Given the description of an element on the screen output the (x, y) to click on. 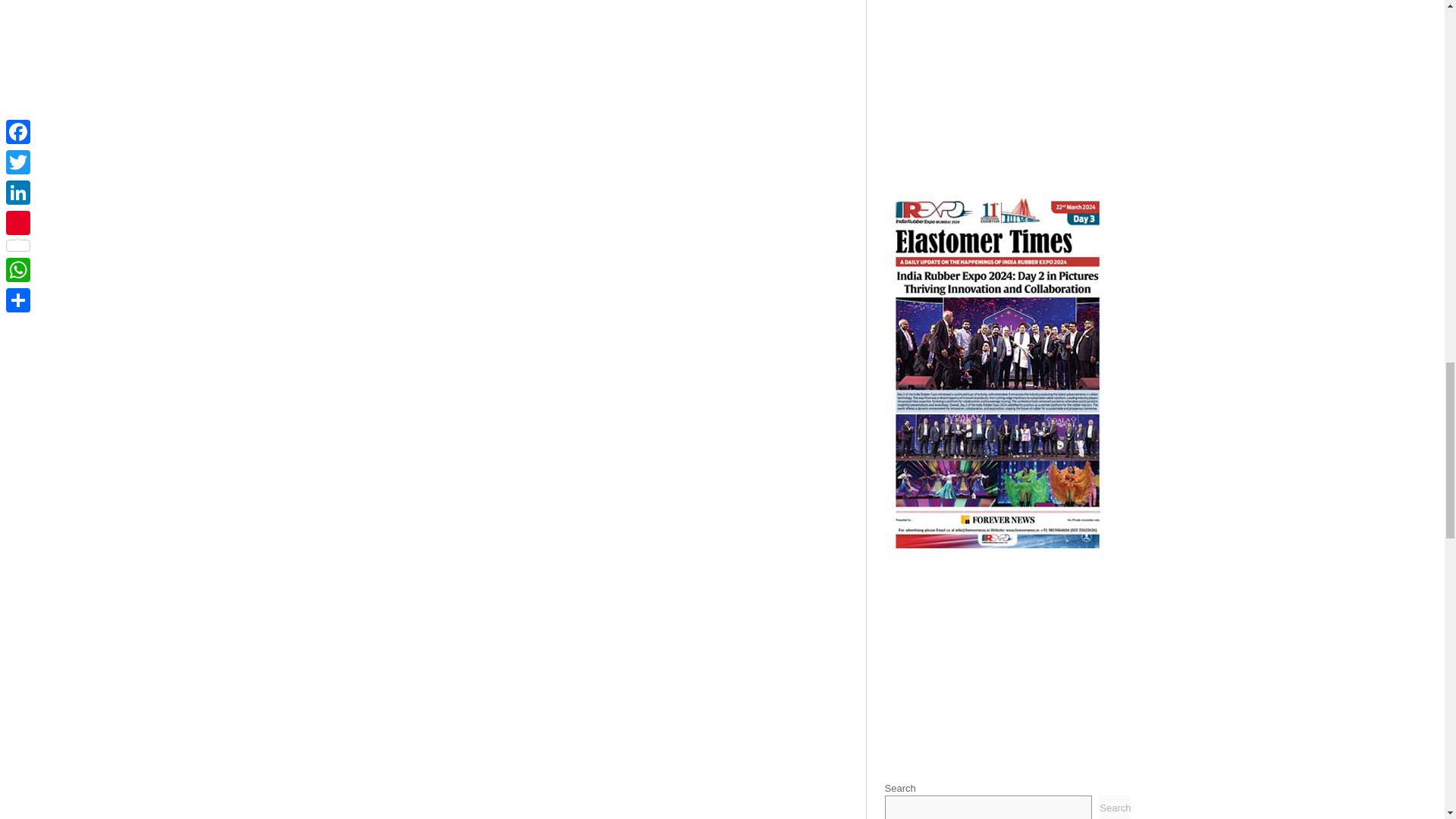
Advertisement (1007, 81)
Search (1115, 807)
Advertisement (1007, 659)
